Given the description of an element on the screen output the (x, y) to click on. 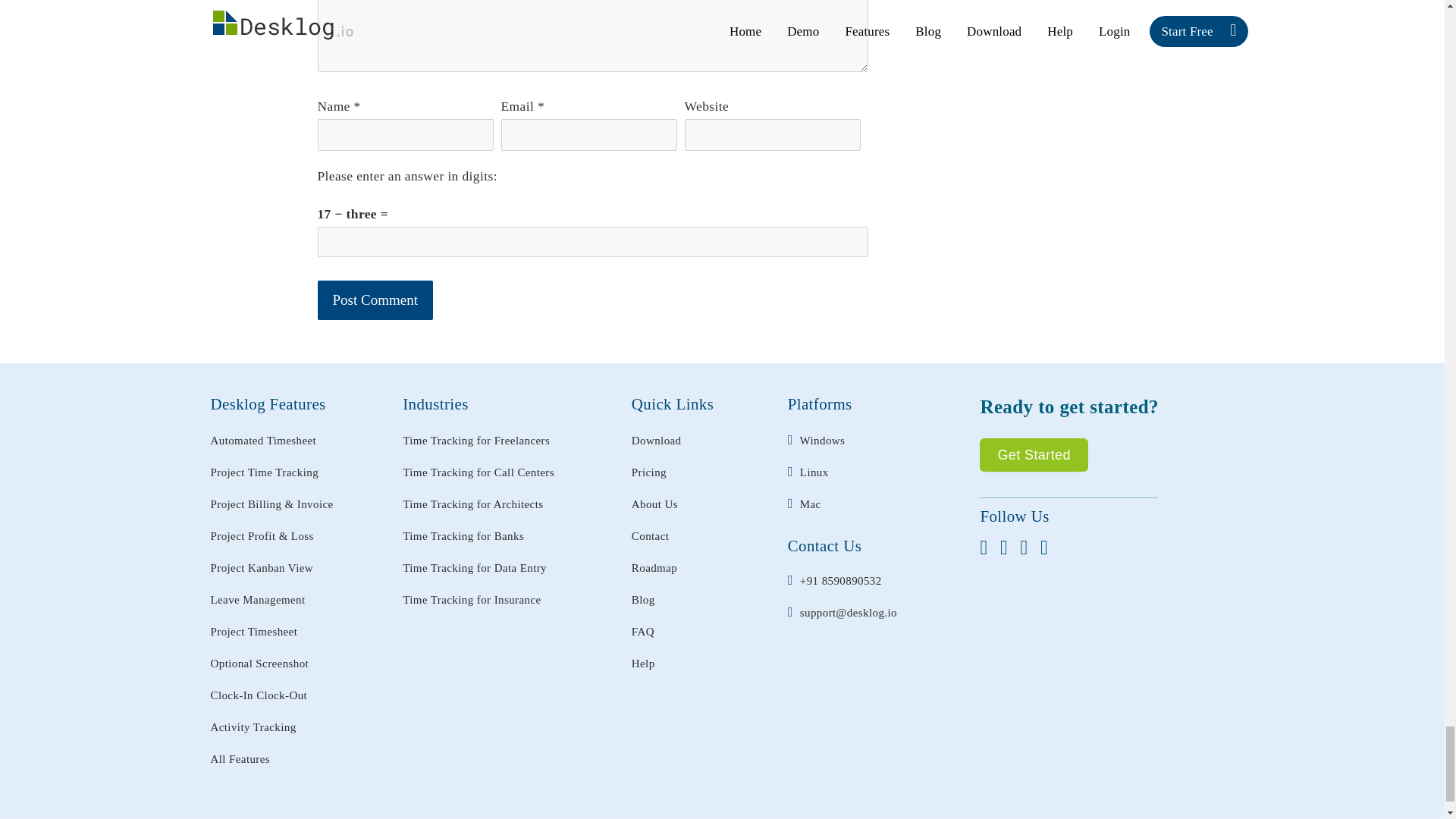
Leave Management (258, 599)
All Features (240, 759)
Optional Screenshot (259, 663)
Clock-In Clock-Out (259, 695)
Post Comment (374, 300)
Post Comment (374, 300)
Project Time Tracking (264, 472)
Automated Timesheet (264, 440)
Time Tracking for Architects (473, 503)
Project Timesheet (254, 631)
